Given the description of an element on the screen output the (x, y) to click on. 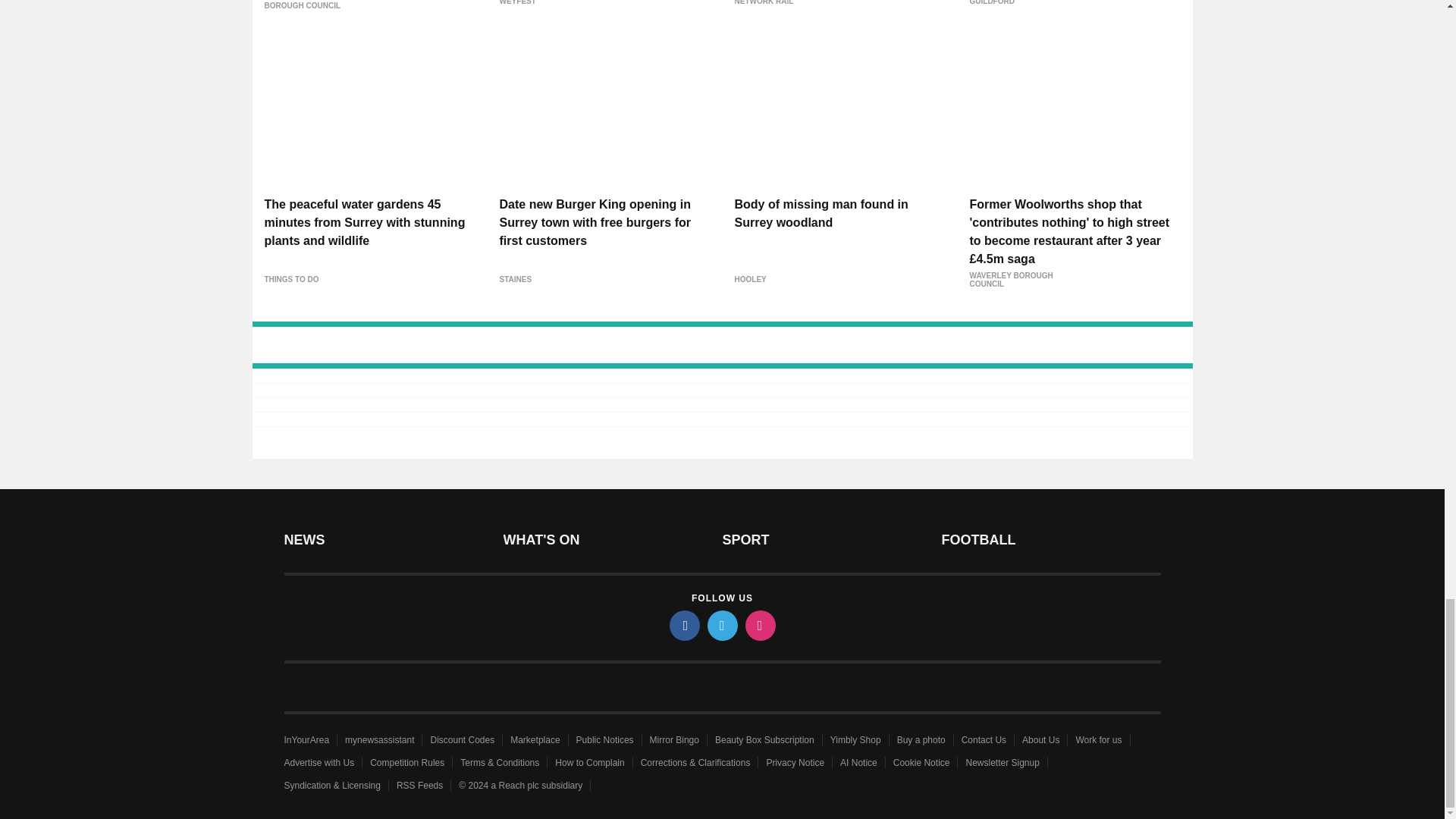
instagram (759, 625)
facebook (683, 625)
twitter (721, 625)
